Given the description of an element on the screen output the (x, y) to click on. 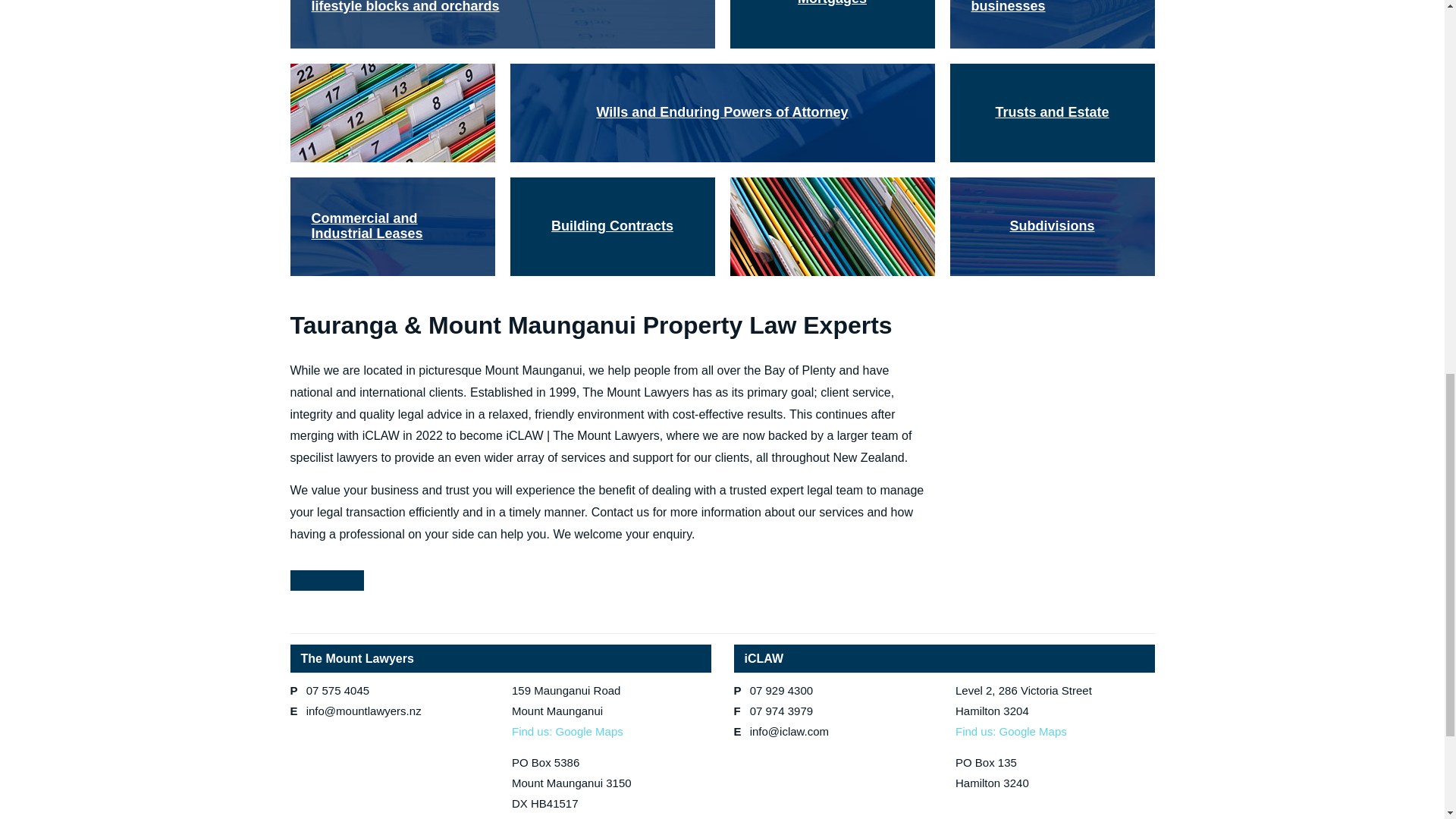
Trusts and Estate (1051, 112)
Find us: Google Maps (1011, 730)
Mortgages (831, 24)
Subdivisions (1051, 226)
Wills and Enduring Powers of Attorney (721, 112)
Sale and purchase of businesses (1051, 24)
Find us: Google Maps (567, 730)
Commercial and Industrial Leases (392, 226)
Building Contracts (611, 226)
